Given the description of an element on the screen output the (x, y) to click on. 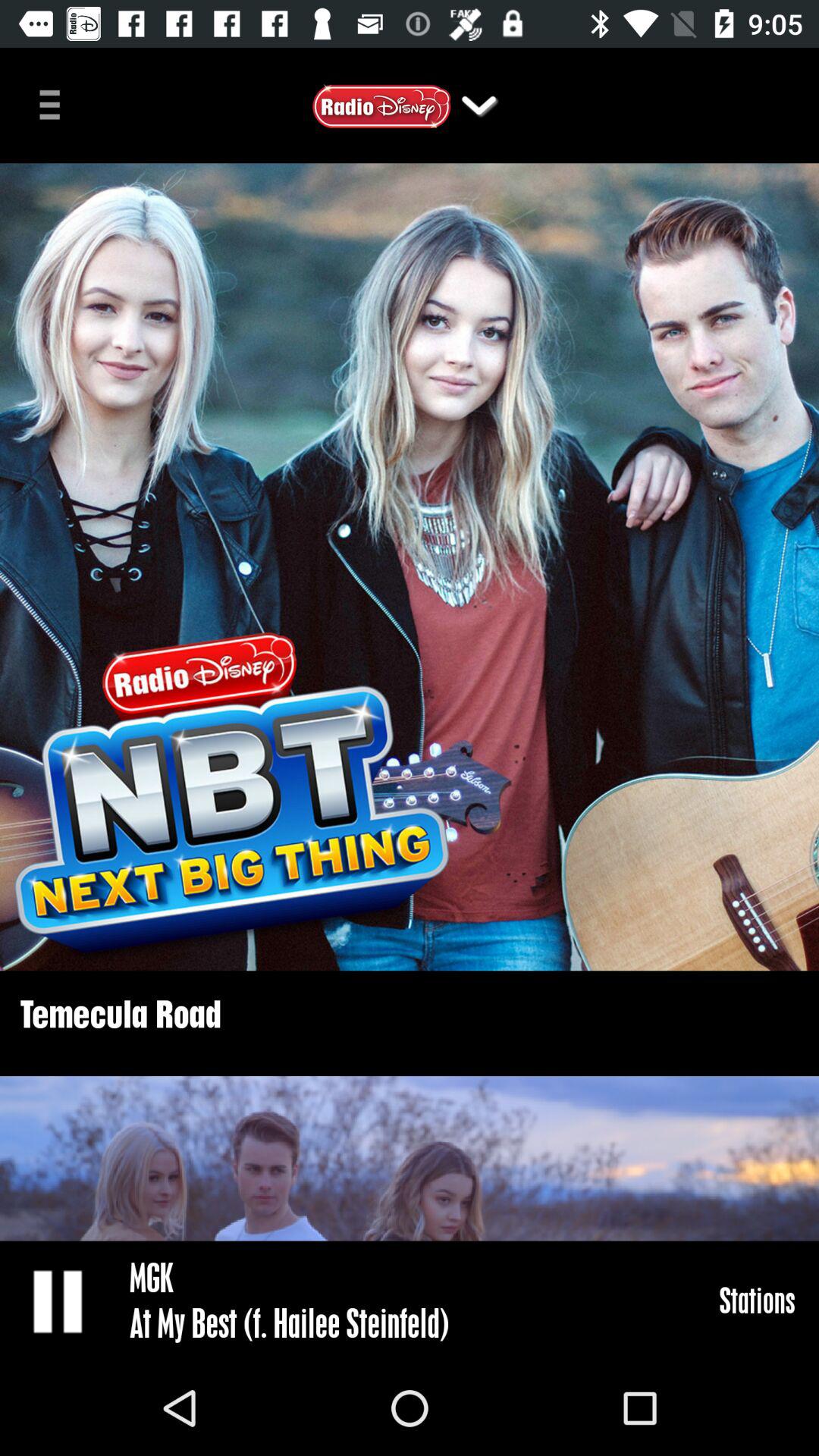
swipe until stations item (757, 1300)
